Given the description of an element on the screen output the (x, y) to click on. 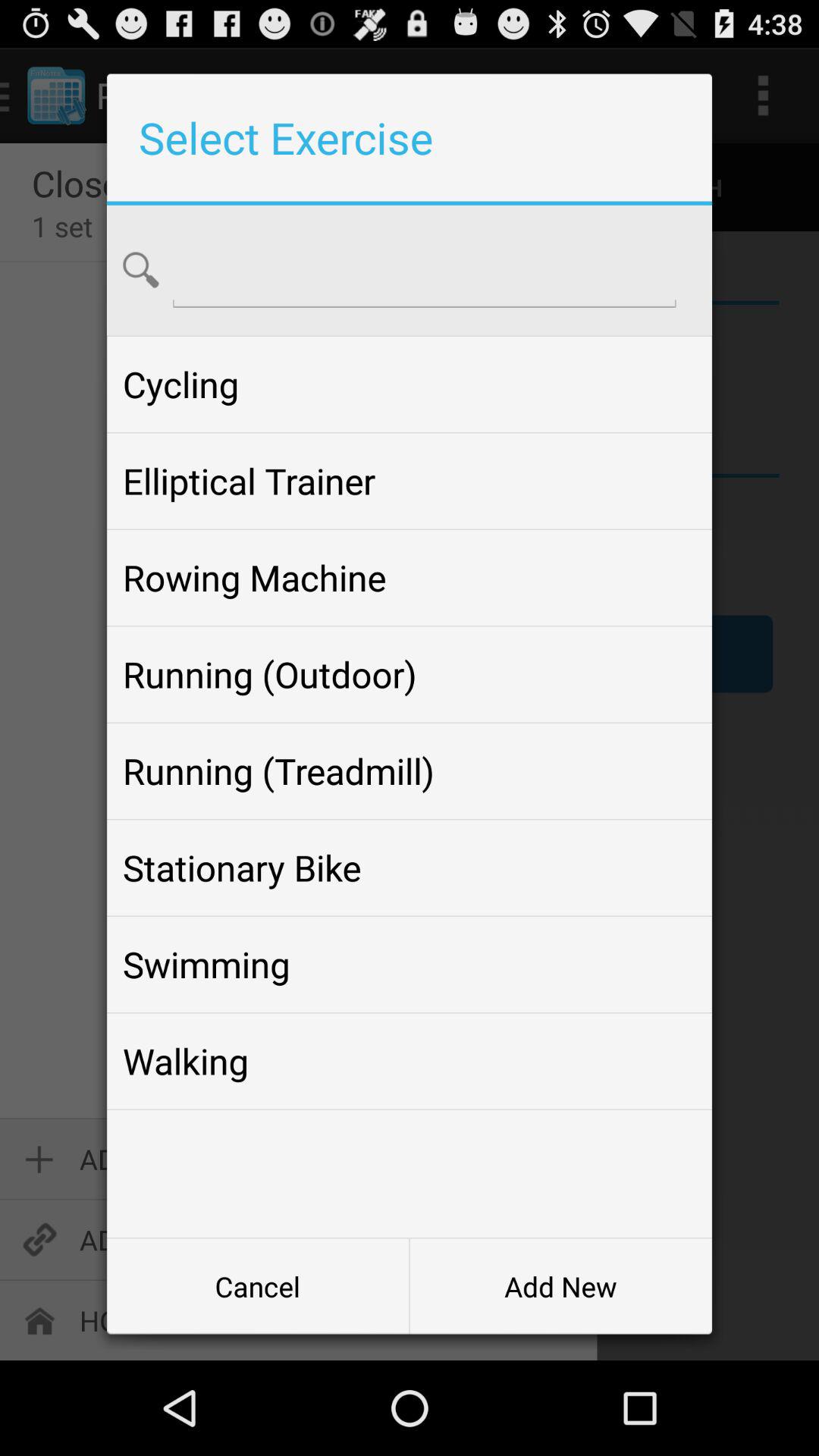
turn off the app above the running (outdoor) app (409, 577)
